Given the description of an element on the screen output the (x, y) to click on. 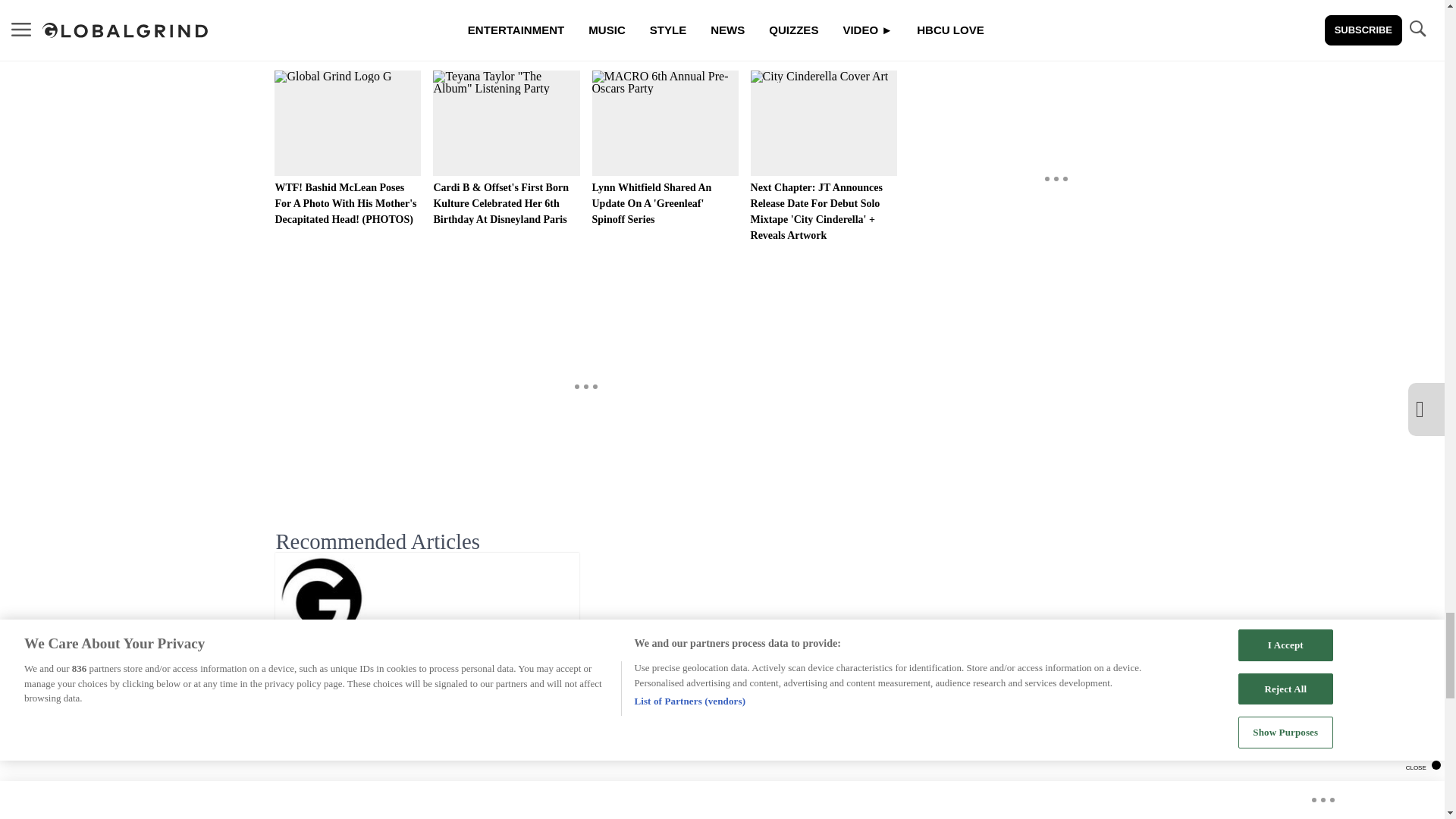
Vuukle Comments Widget (585, 769)
